Given the description of an element on the screen output the (x, y) to click on. 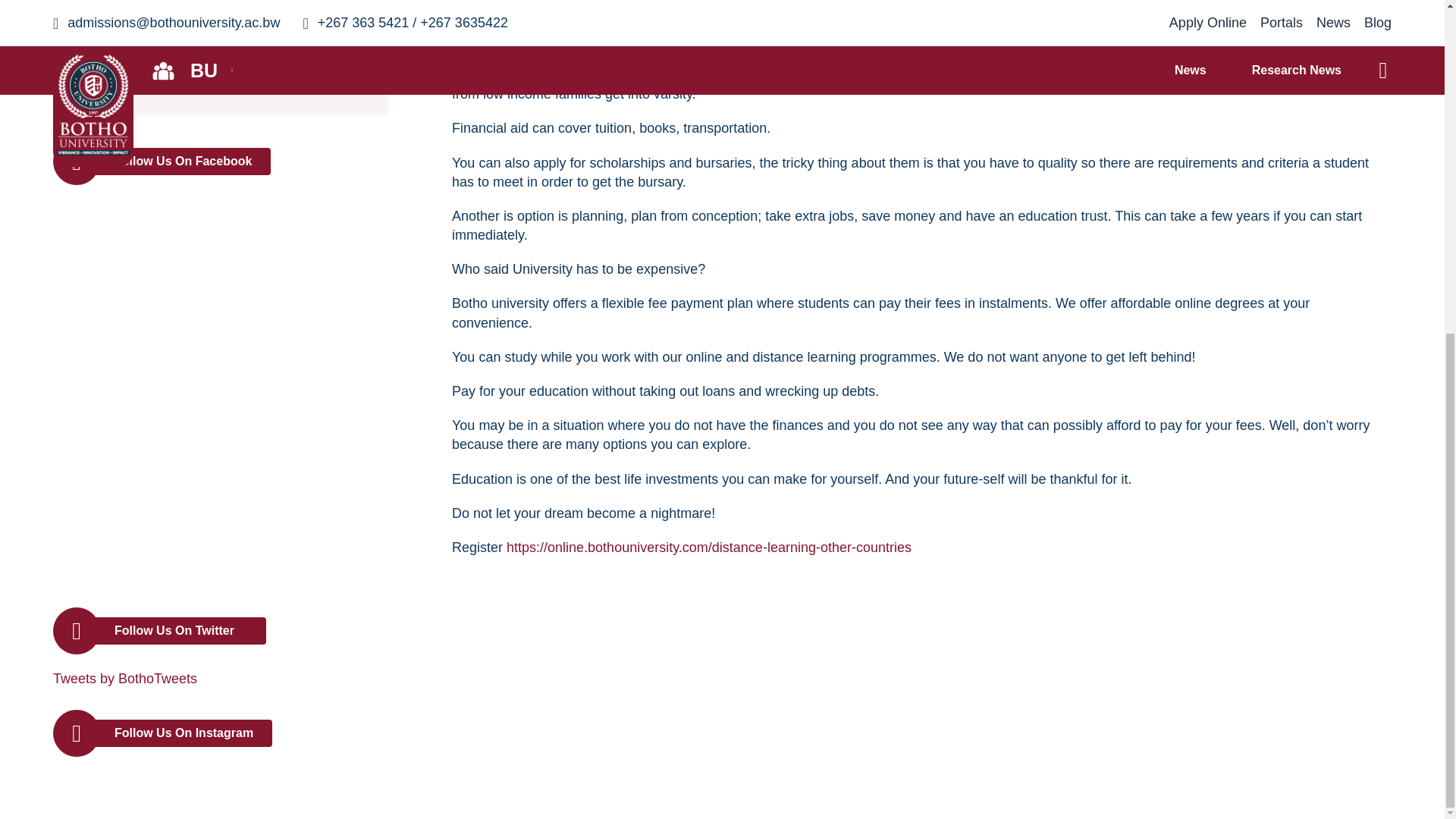
Get an Upgrade (220, 77)
Career Tips (220, 33)
Follow Us On Twitter (220, 630)
All (220, 4)
Follow Us On Instagram (220, 733)
Tweets by BothoTweets (124, 678)
Follow Us On Facebook (220, 161)
